Given the description of an element on the screen output the (x, y) to click on. 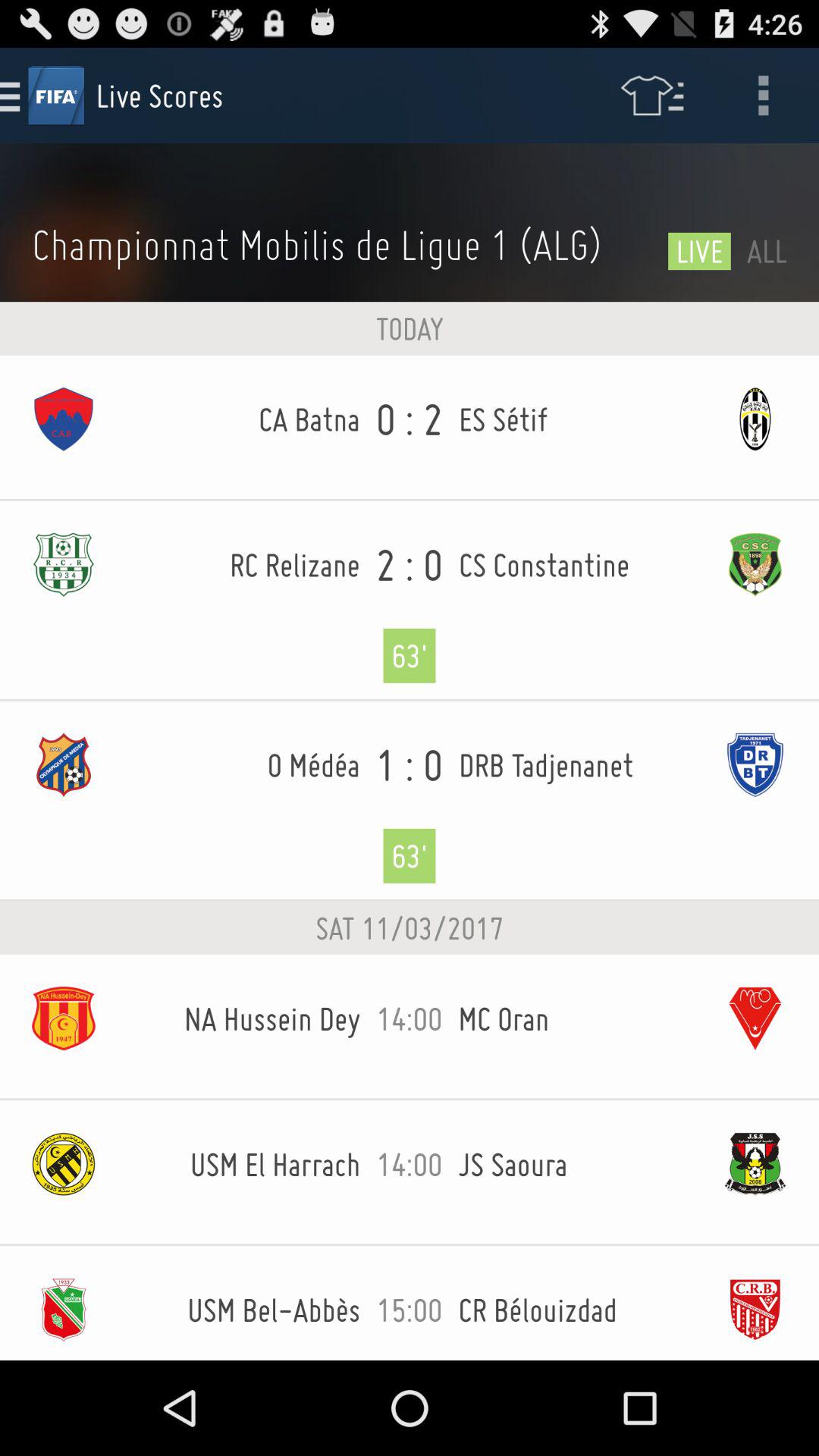
turn off the icon next to the 0 : 2 (574, 418)
